Given the description of an element on the screen output the (x, y) to click on. 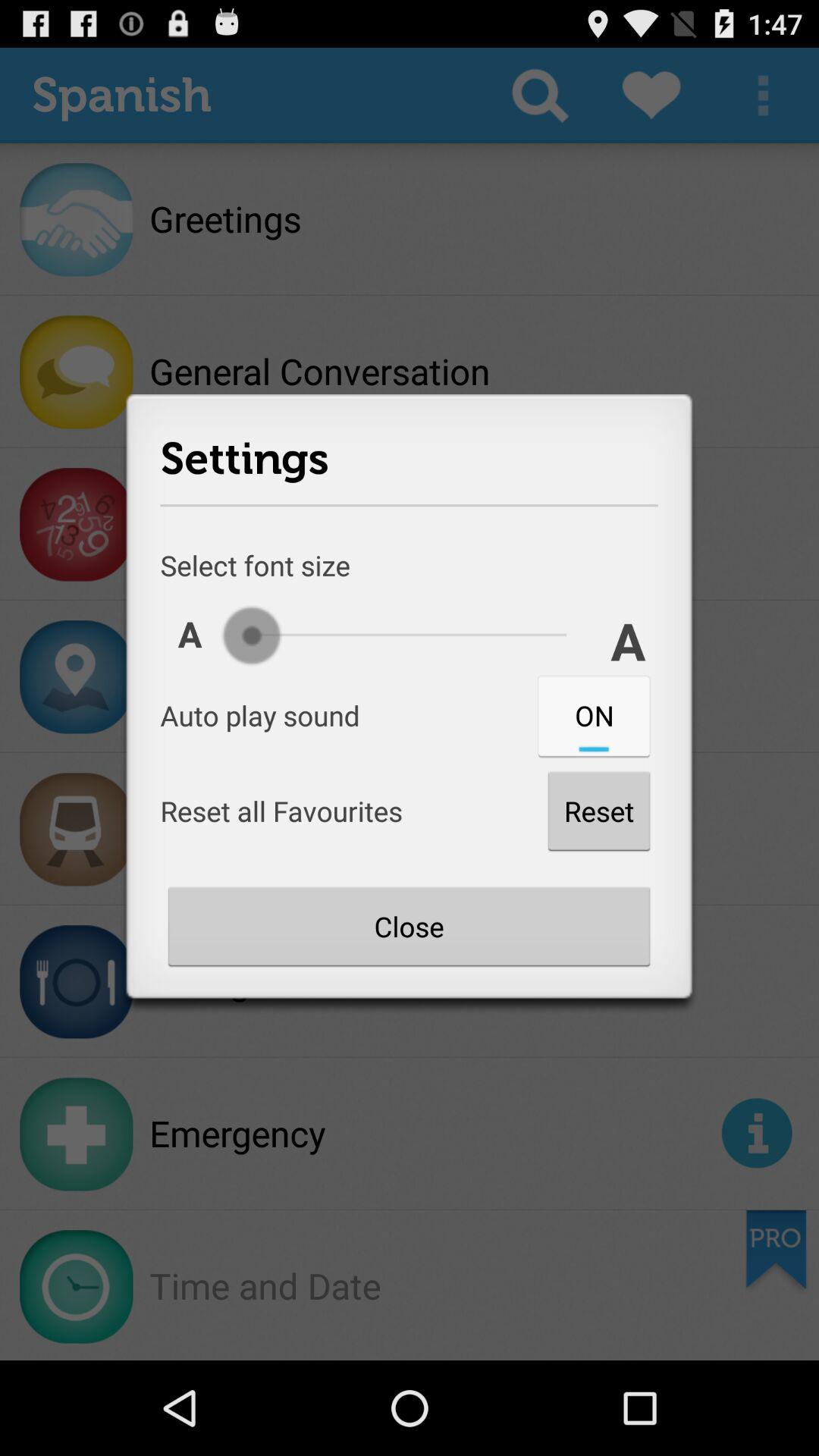
jump until the close button (409, 926)
